Given the description of an element on the screen output the (x, y) to click on. 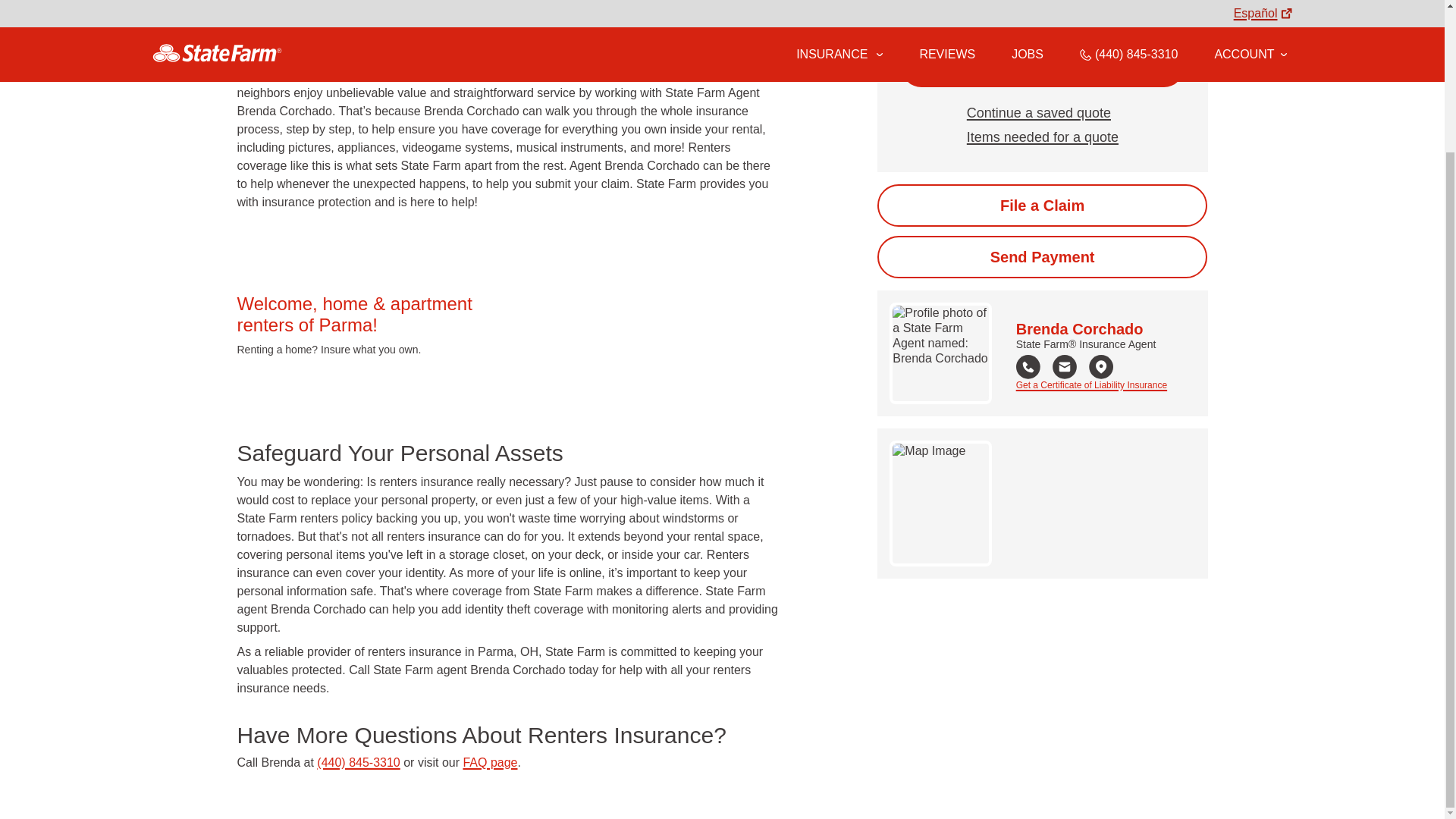
Start the claim process online (1042, 205)
FAQ page (489, 762)
